Given the description of an element on the screen output the (x, y) to click on. 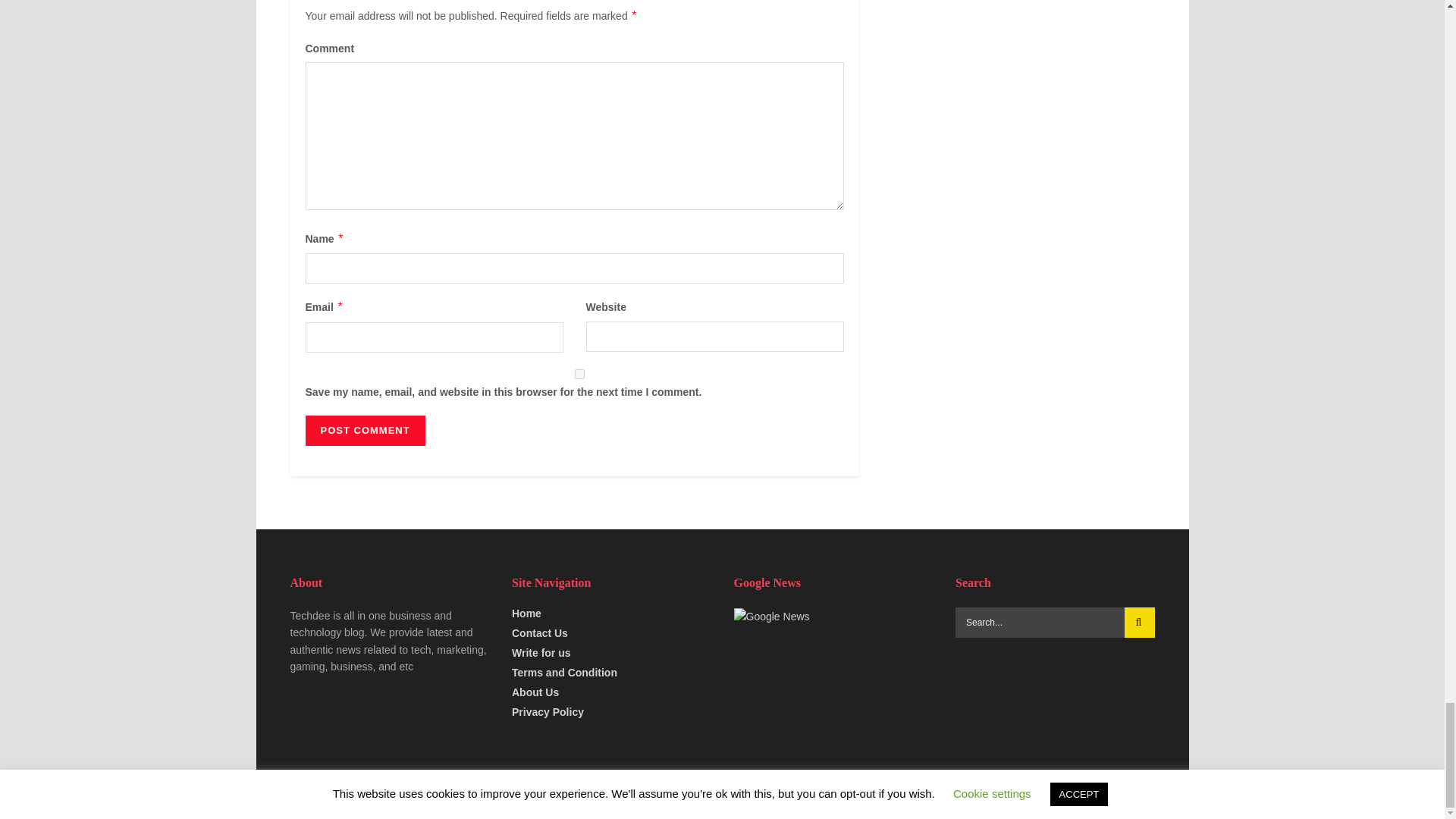
yes (580, 374)
Techdee (338, 794)
Post Comment (364, 430)
